Given the description of an element on the screen output the (x, y) to click on. 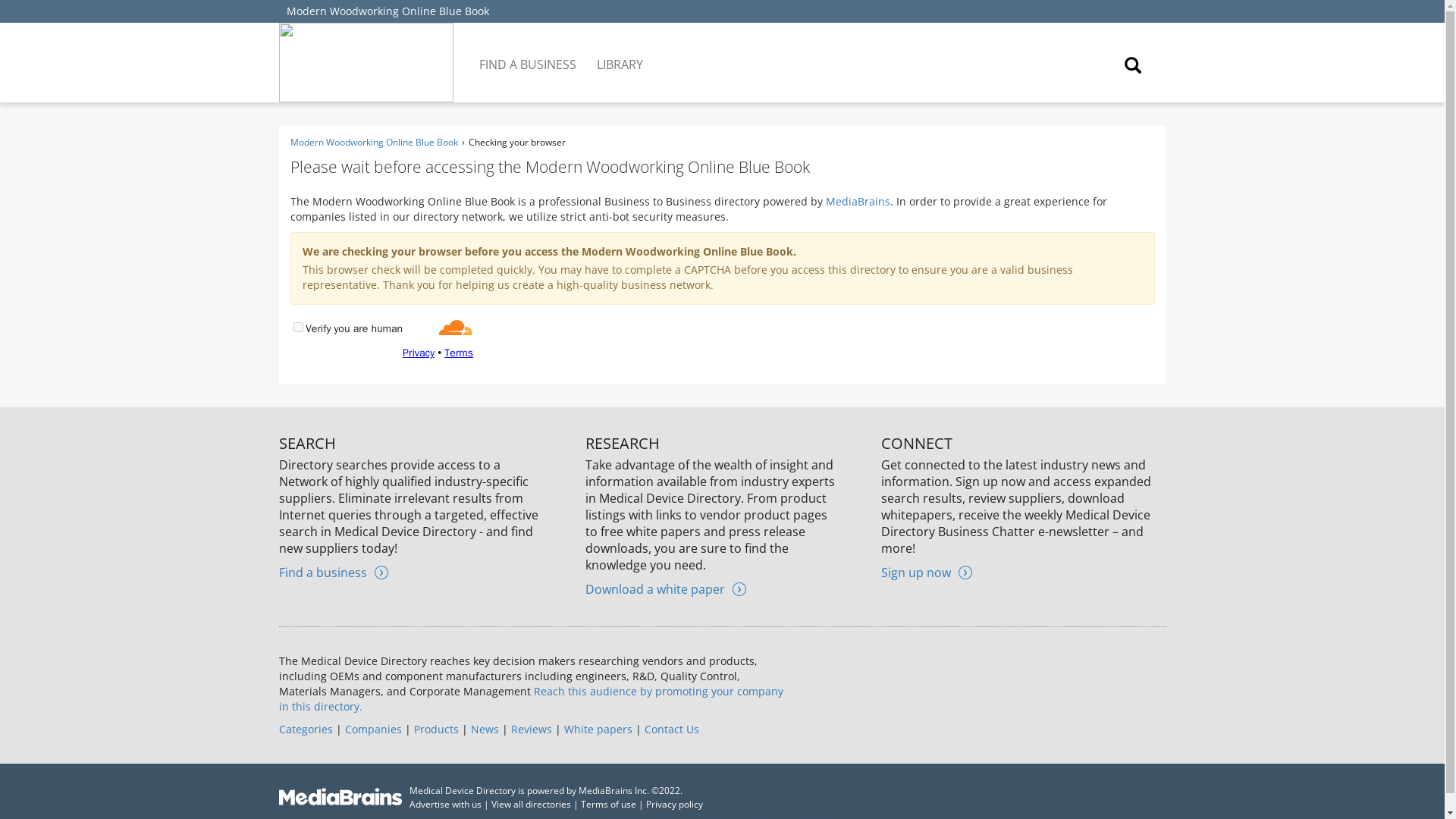
White papers (597, 728)
Categories (306, 728)
Products (435, 728)
Companies (372, 728)
News (483, 728)
Reviews (531, 728)
Find a business (333, 572)
View all directories (531, 803)
Advertise with us (445, 803)
Privacy policy (674, 803)
Terms of use (608, 803)
Sign up now (926, 572)
Download a white paper (665, 588)
FIND A BUSINESS (528, 52)
Modern Woodworking Online Blue Book (373, 141)
